Given the description of an element on the screen output the (x, y) to click on. 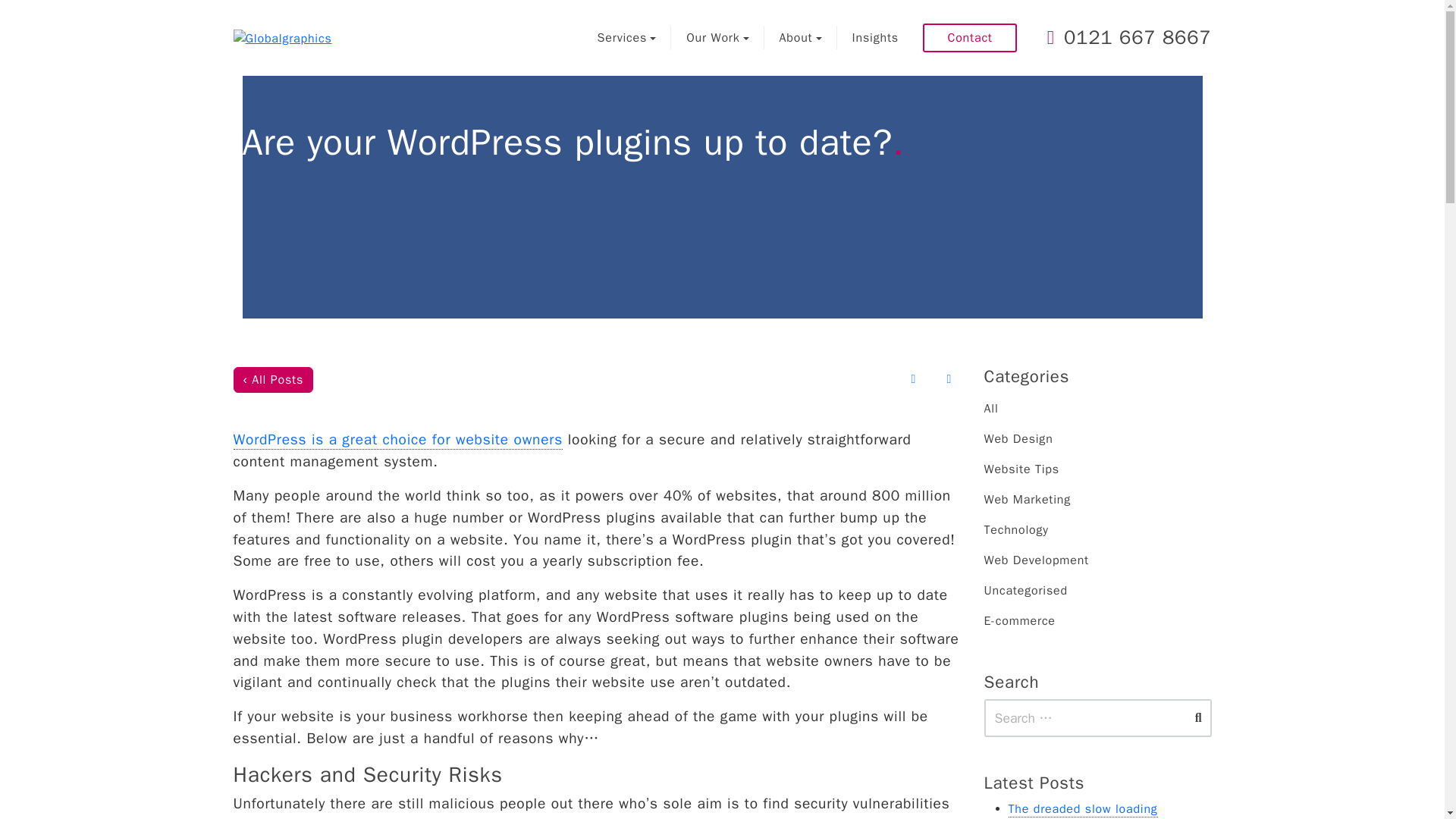
Web Marketing (1097, 499)
Insights (874, 37)
Our Work (716, 37)
Search (1192, 713)
Search (1192, 713)
Services (626, 37)
Services (626, 37)
WordPress is a great choice for website owners (397, 439)
About (800, 37)
0121 667 8667 (1128, 37)
